Given the description of an element on the screen output the (x, y) to click on. 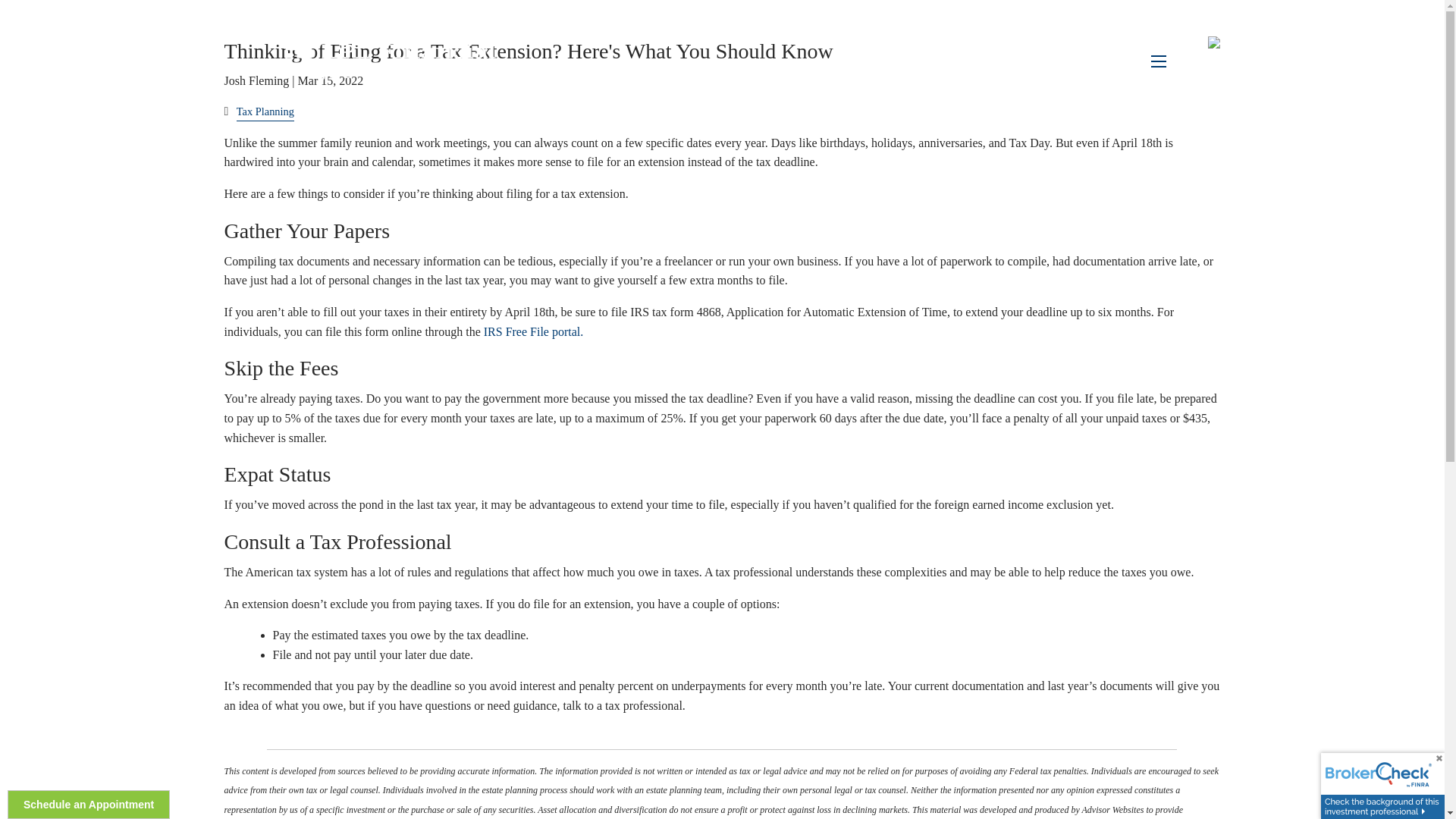
Tax Planning (264, 111)
IRS Free File portal. (533, 331)
Schedule an Appointment (88, 804)
